Given the description of an element on the screen output the (x, y) to click on. 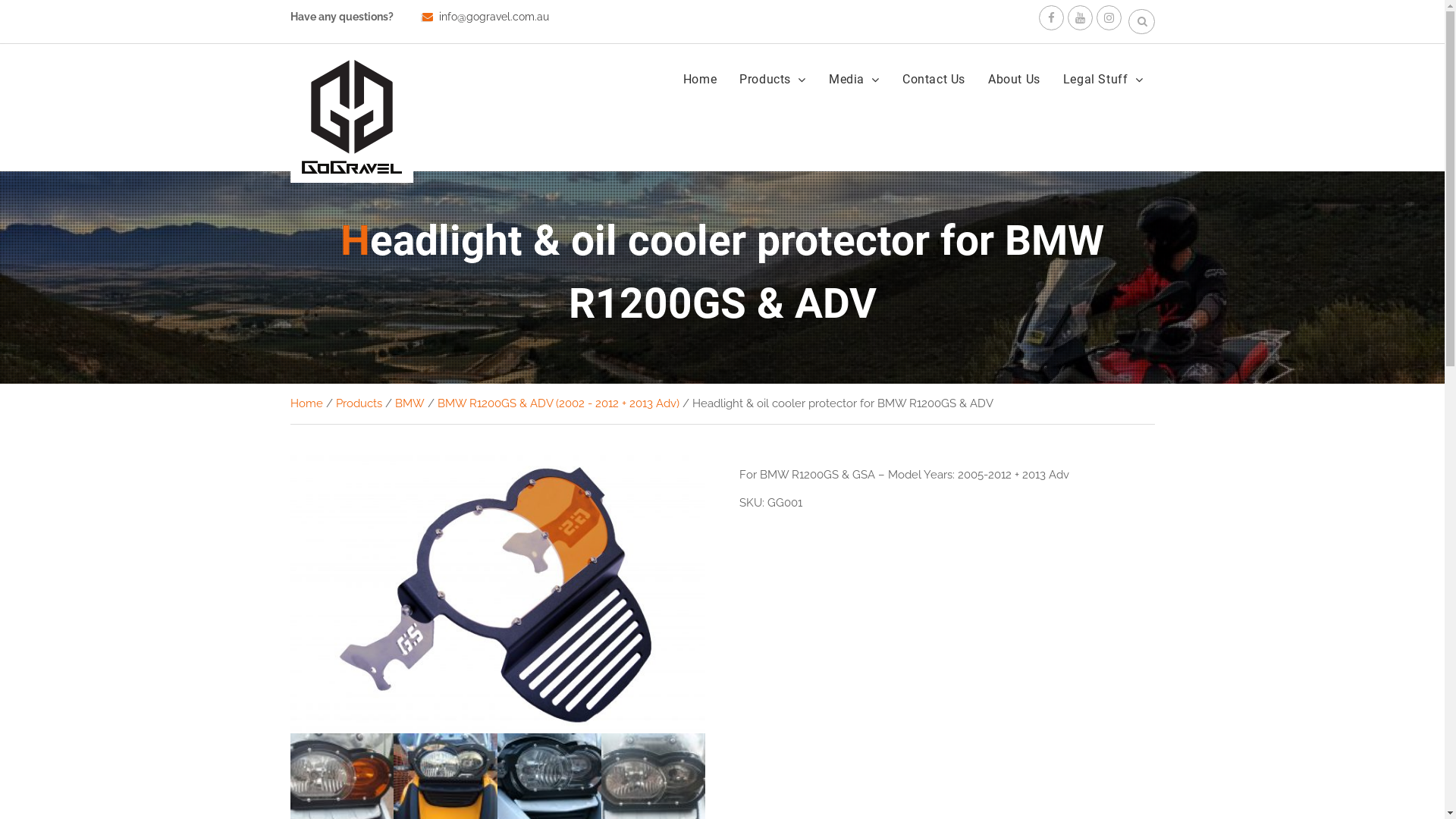
Home Element type: text (305, 403)
Home Element type: text (699, 78)
Products Element type: text (358, 403)
Instagram Element type: text (1108, 17)
Products Element type: text (772, 78)
BMW_R1200GS_OC_HL_WHITE_BG Element type: hover (496, 594)
Search for: Element type: hover (1141, 21)
info@gogravel.com.au Element type: text (493, 16)
Facebook Element type: text (1050, 17)
Media Element type: text (854, 78)
Youtube Element type: text (1079, 17)
BMW R1200GS & ADV (2002 - 2012 + 2013 Adv) Element type: text (557, 403)
About Us Element type: text (1014, 78)
Legal Stuff Element type: text (1103, 78)
BMW Element type: text (408, 403)
Contact Us Element type: text (933, 78)
